Given the description of an element on the screen output the (x, y) to click on. 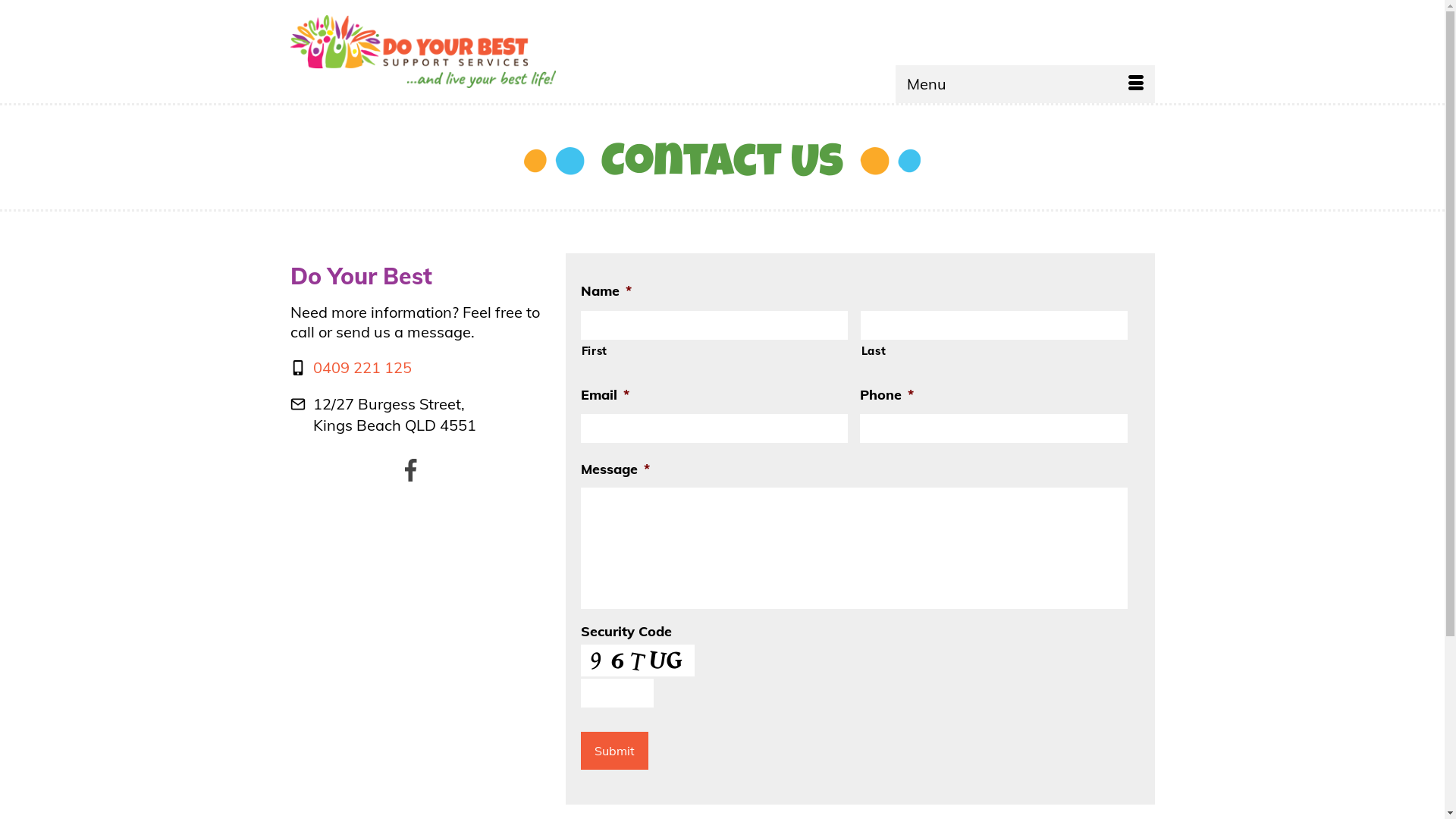
Menu Element type: text (1024, 84)
Submit Element type: text (614, 750)
0409 221 125 Element type: text (361, 366)
Do Your Best Support Services Element type: hover (455, 51)
